Given the description of an element on the screen output the (x, y) to click on. 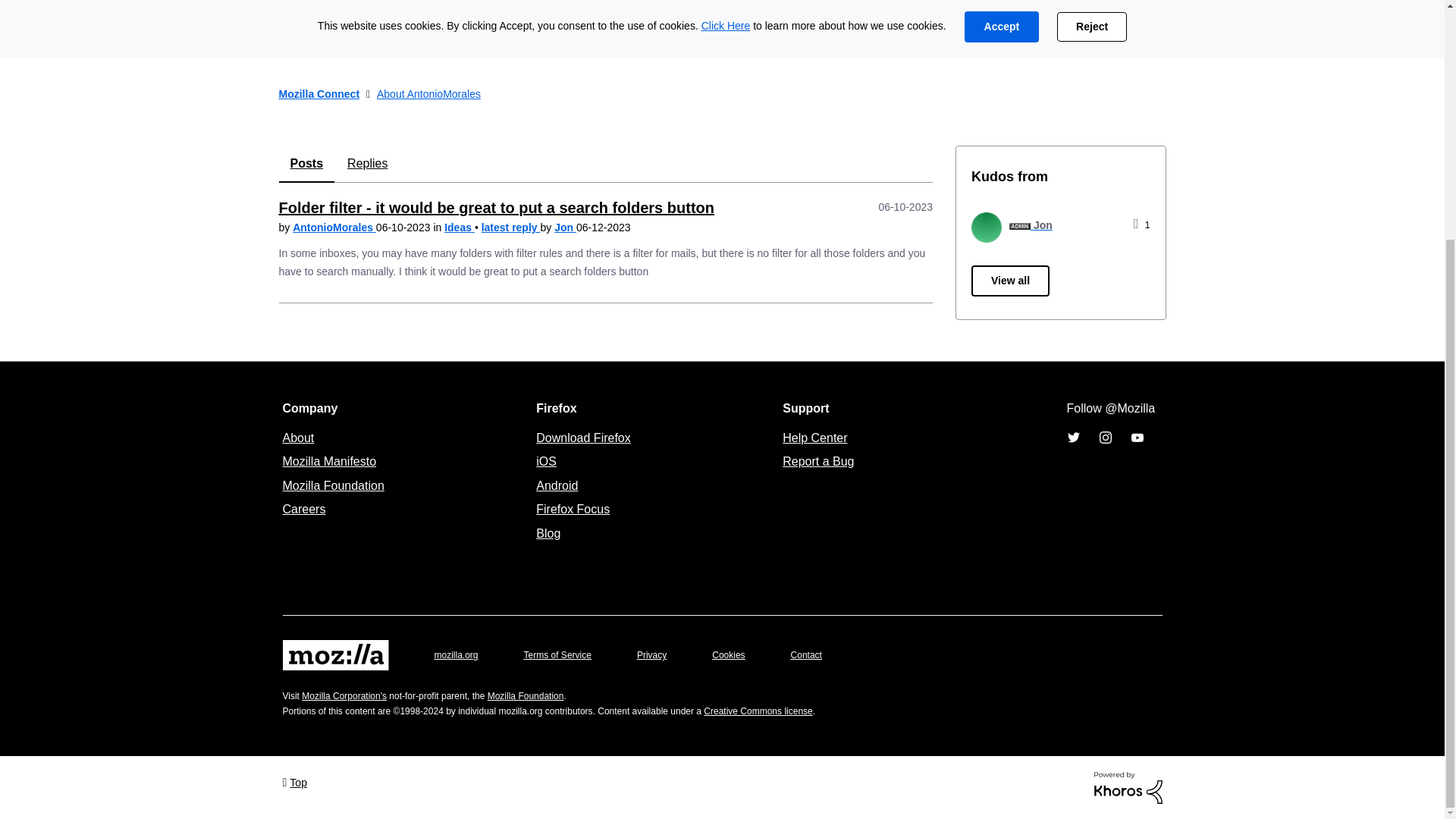
Jon (986, 227)
Jon (565, 227)
mozilla.org (455, 655)
Ideas (459, 227)
latest reply (510, 227)
Mozilla Connect (319, 93)
View all (1010, 280)
View profile (333, 227)
Download Firefox (582, 437)
06-10-2023 10:07 AM 06-10-2023 10:07 AM (905, 206)
